Given the description of an element on the screen output the (x, y) to click on. 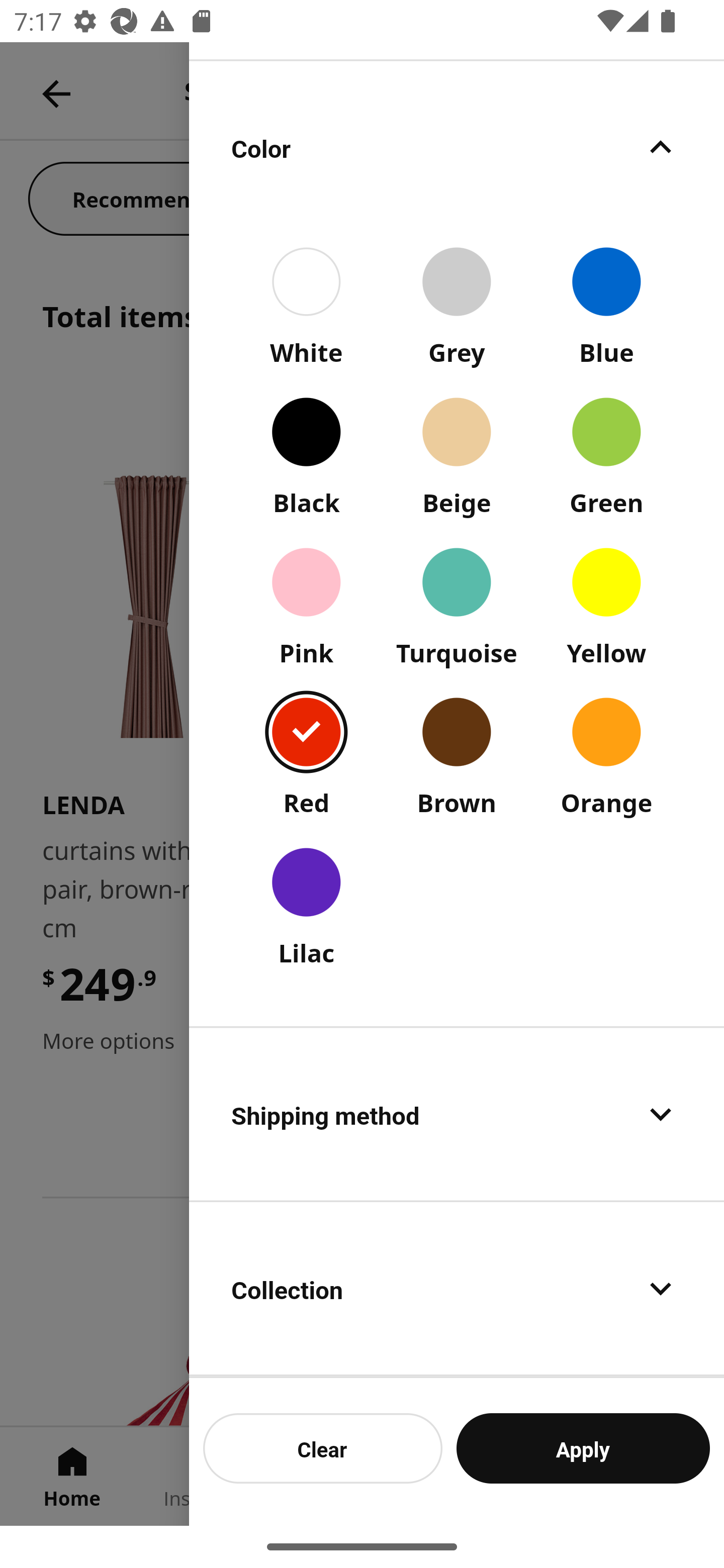
Color (456, 147)
Shipping method (456, 1113)
Collection (456, 1288)
Clear (322, 1447)
Apply (583, 1447)
